Given the description of an element on the screen output the (x, y) to click on. 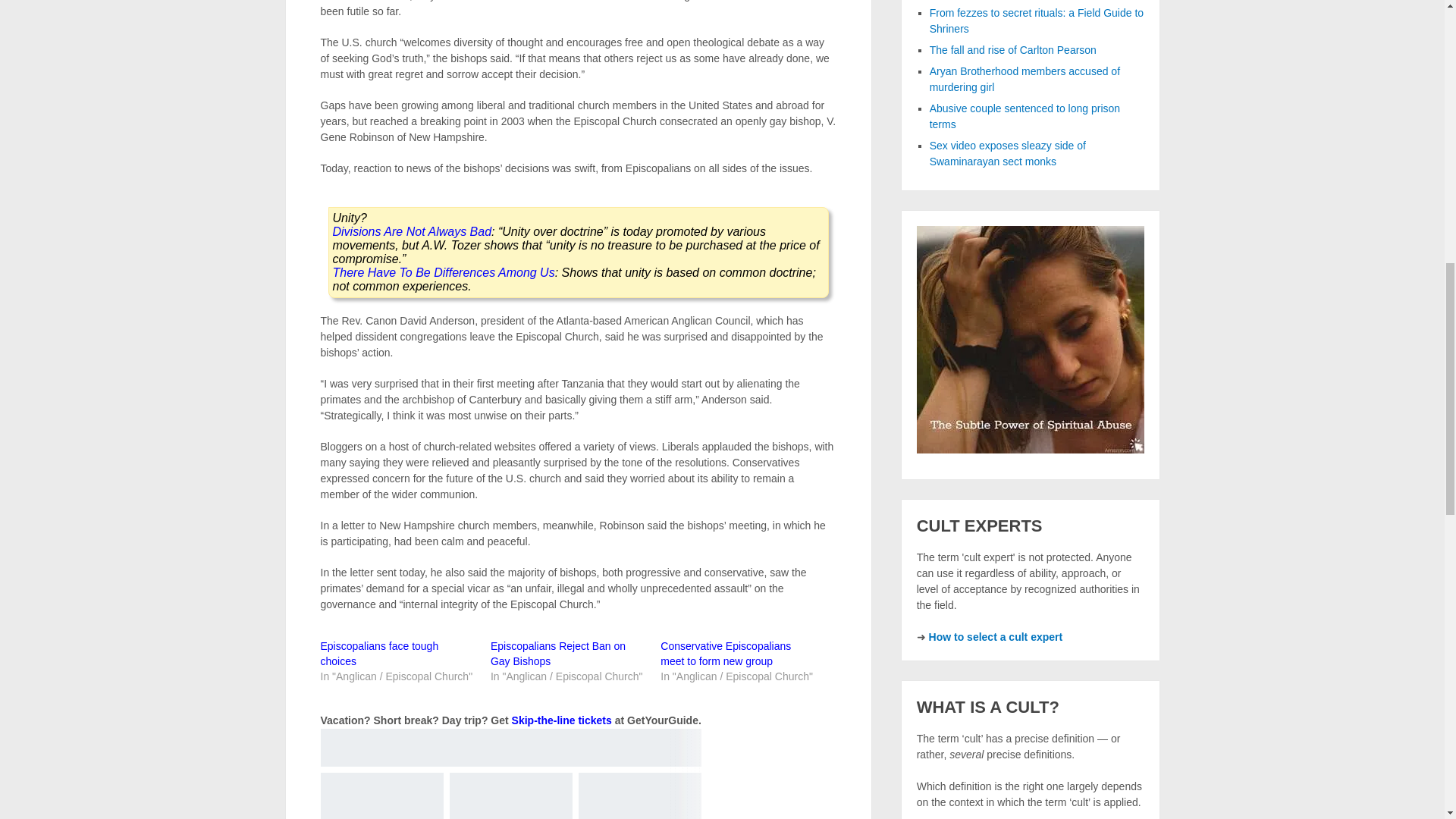
There Have To Be Differences Among Us (442, 272)
GetYourGuide Widget (510, 773)
Aryan Brotherhood members accused of murdering girl (1024, 79)
Conservative Episcopalians meet to form new group (725, 653)
The fall and rise of Carlton Pearson (1013, 50)
Episcopalians Reject Ban on Gay Bishops (558, 653)
From fezzes to secret rituals: a Field Guide to Shriners (1036, 20)
Episcopalians face tough choices (379, 653)
Episcopalians face tough choices (379, 653)
Divisions Are Not Always Bad (411, 231)
Episcopalians Reject Ban on Gay Bishops (558, 653)
Skip-the-line tickets (561, 720)
Conservative Episcopalians meet to form new group (725, 653)
